Given the description of an element on the screen output the (x, y) to click on. 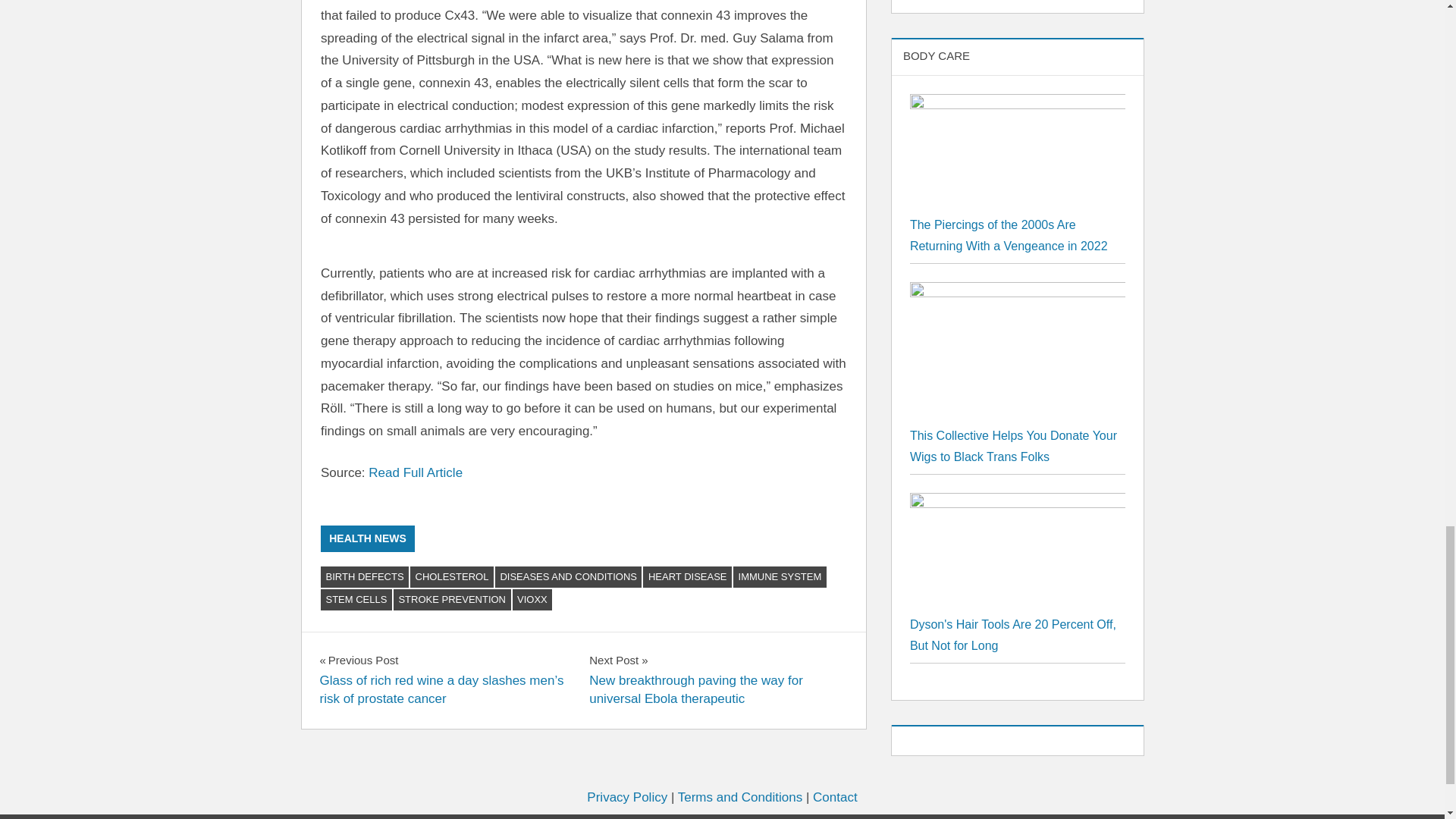
VIOXX (532, 599)
STROKE PREVENTION (452, 599)
BIRTH DEFECTS (364, 577)
DISEASES AND CONDITIONS (568, 577)
IMMUNE SYSTEM (780, 577)
HEART DISEASE (687, 577)
Read Full Article (415, 472)
